Given the description of an element on the screen output the (x, y) to click on. 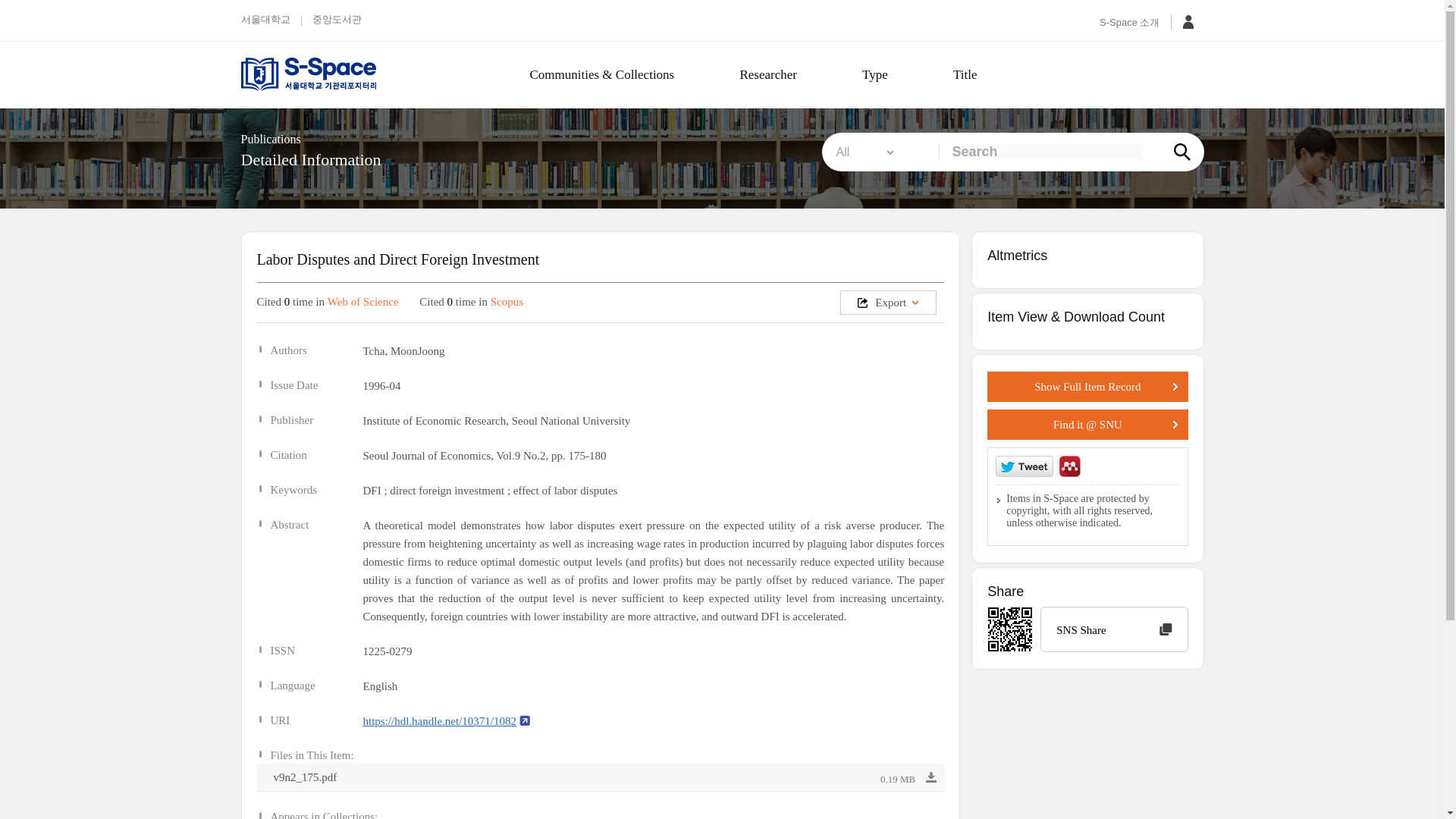
0.19 MB (908, 779)
Show Full Item Record (1087, 386)
DFI (371, 490)
effect of labor disputes (565, 490)
My S-Space (1188, 22)
Export (888, 302)
Institute of Economic Research, Seoul National University (496, 420)
Search (1047, 152)
S-Space (334, 74)
direct foreign investment (446, 490)
